Given the description of an element on the screen output the (x, y) to click on. 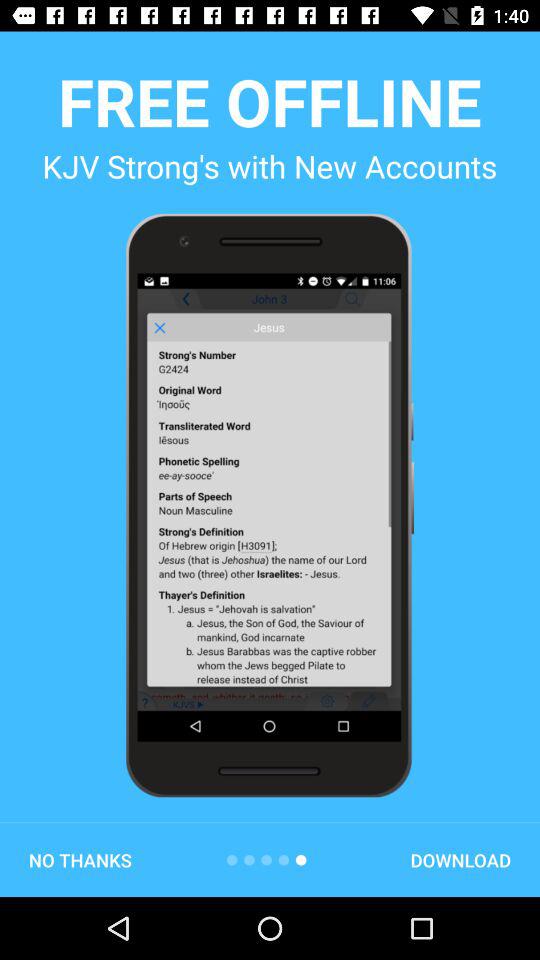
turn on the no thanks item (80, 859)
